Given the description of an element on the screen output the (x, y) to click on. 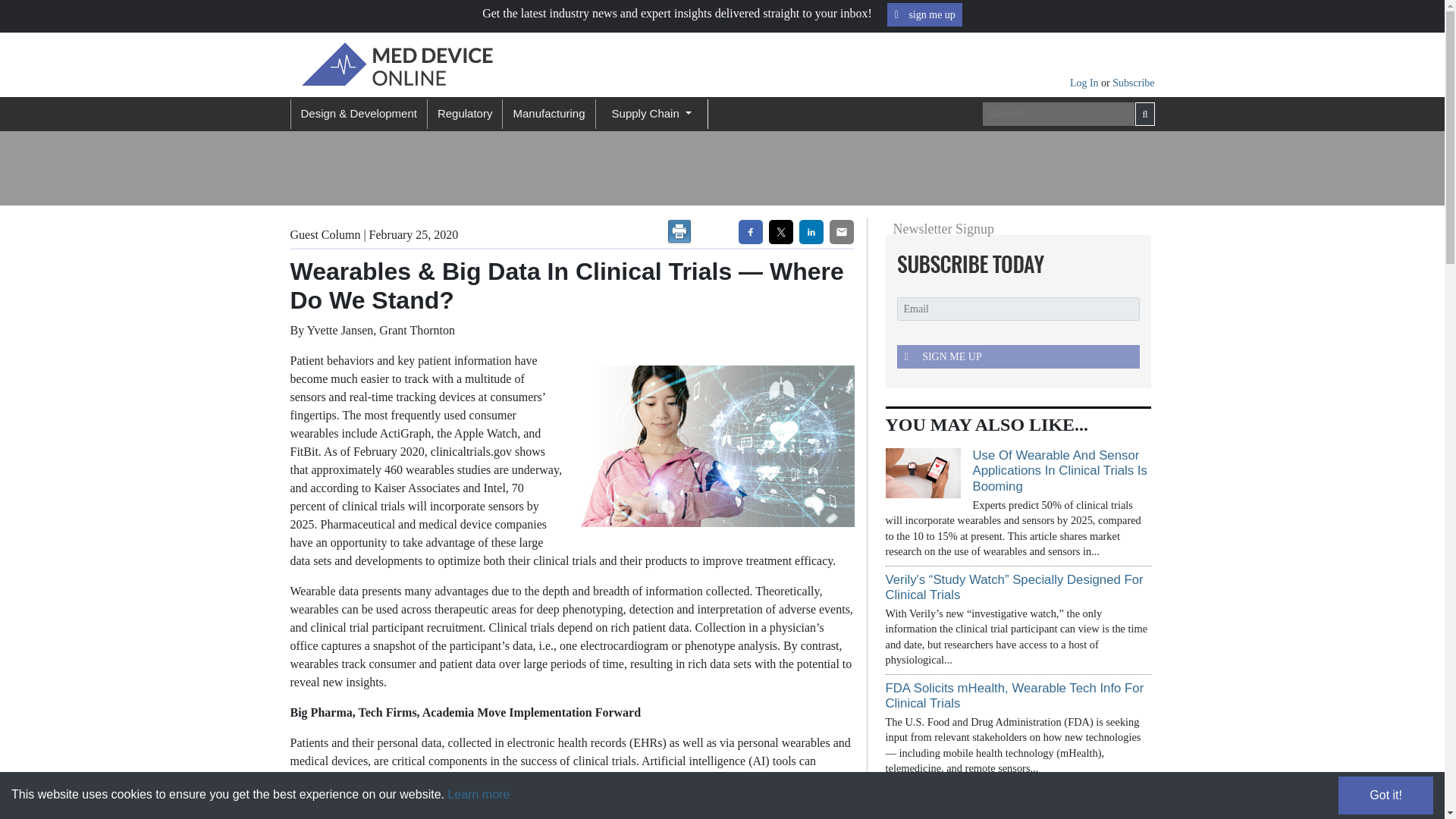
Learn more (477, 793)
Manufacturing (548, 113)
sign me up (924, 14)
SIGN ME UP (1017, 356)
Google Developing Wristband For Clinical Applications (1003, 804)
Health care technology concept (708, 446)
Print (679, 232)
Regulatory (464, 113)
Subscribe (1133, 82)
